Given the description of an element on the screen output the (x, y) to click on. 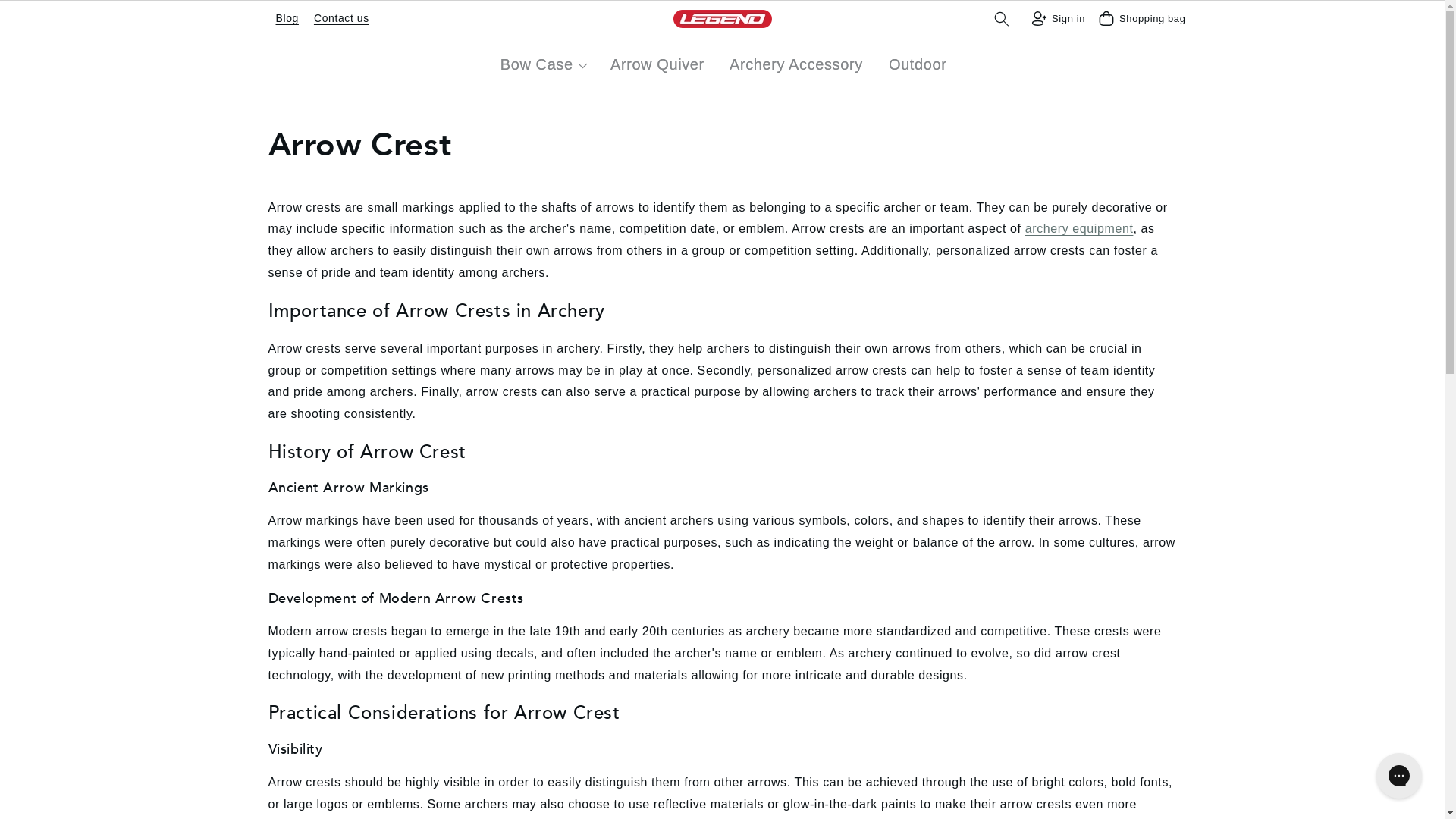
Contact us (341, 17)
Gorgias live chat messenger (1398, 775)
SKIP TO CONTENT (85, 18)
